Given the description of an element on the screen output the (x, y) to click on. 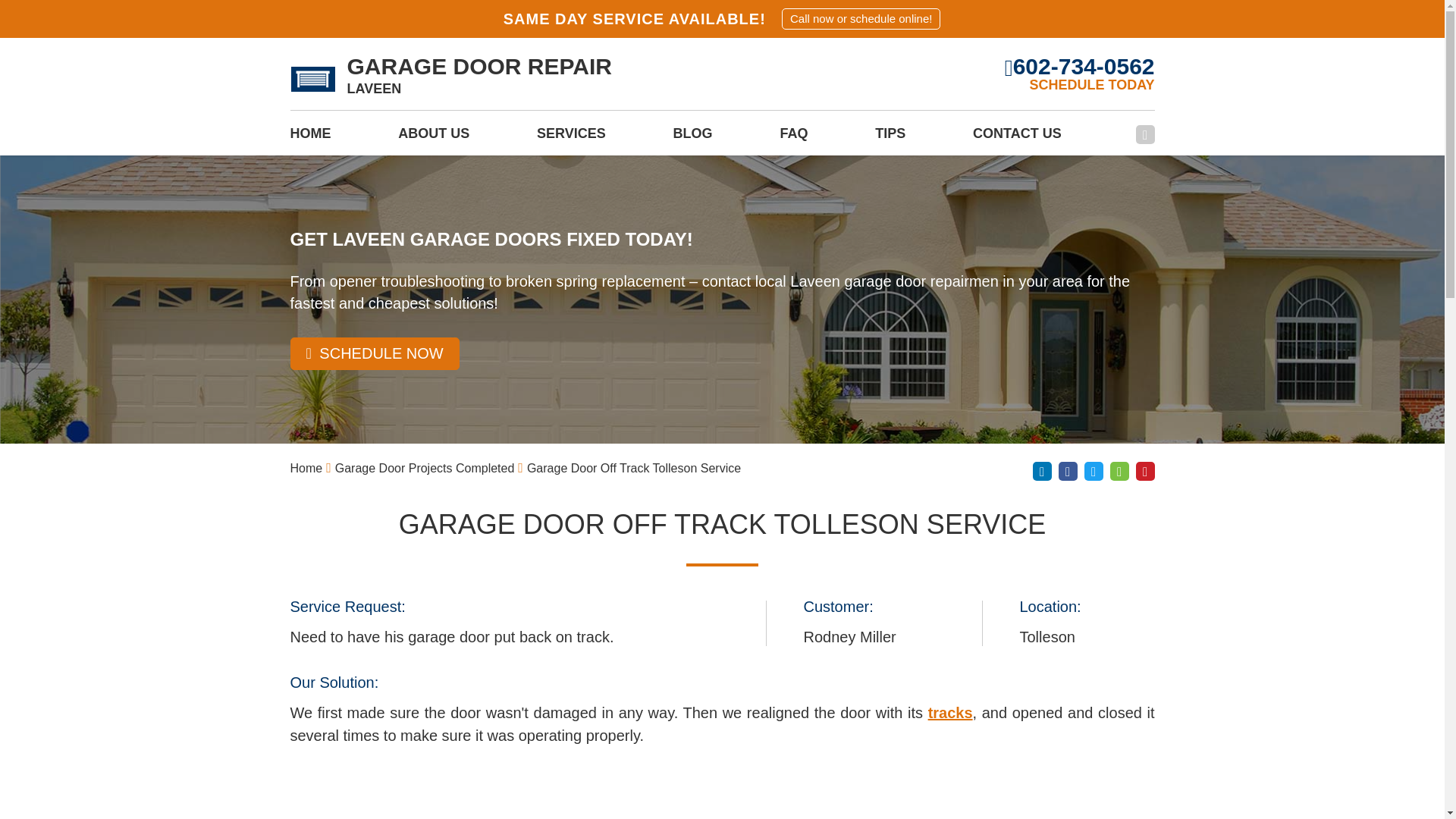
HOME (309, 138)
Linkedin (1041, 470)
Garage Door Repair Laveen (450, 79)
CONTACT US (1016, 138)
SERVICES (571, 138)
Garage door off track (950, 712)
Twitter (1093, 470)
Home (305, 468)
Garage Door Projects Completed (424, 468)
Garage Door Repair Laveen (311, 79)
Facebook (1067, 470)
BLOG (692, 138)
Call now or schedule online! (860, 18)
Houzz (1119, 470)
